Given the description of an element on the screen output the (x, y) to click on. 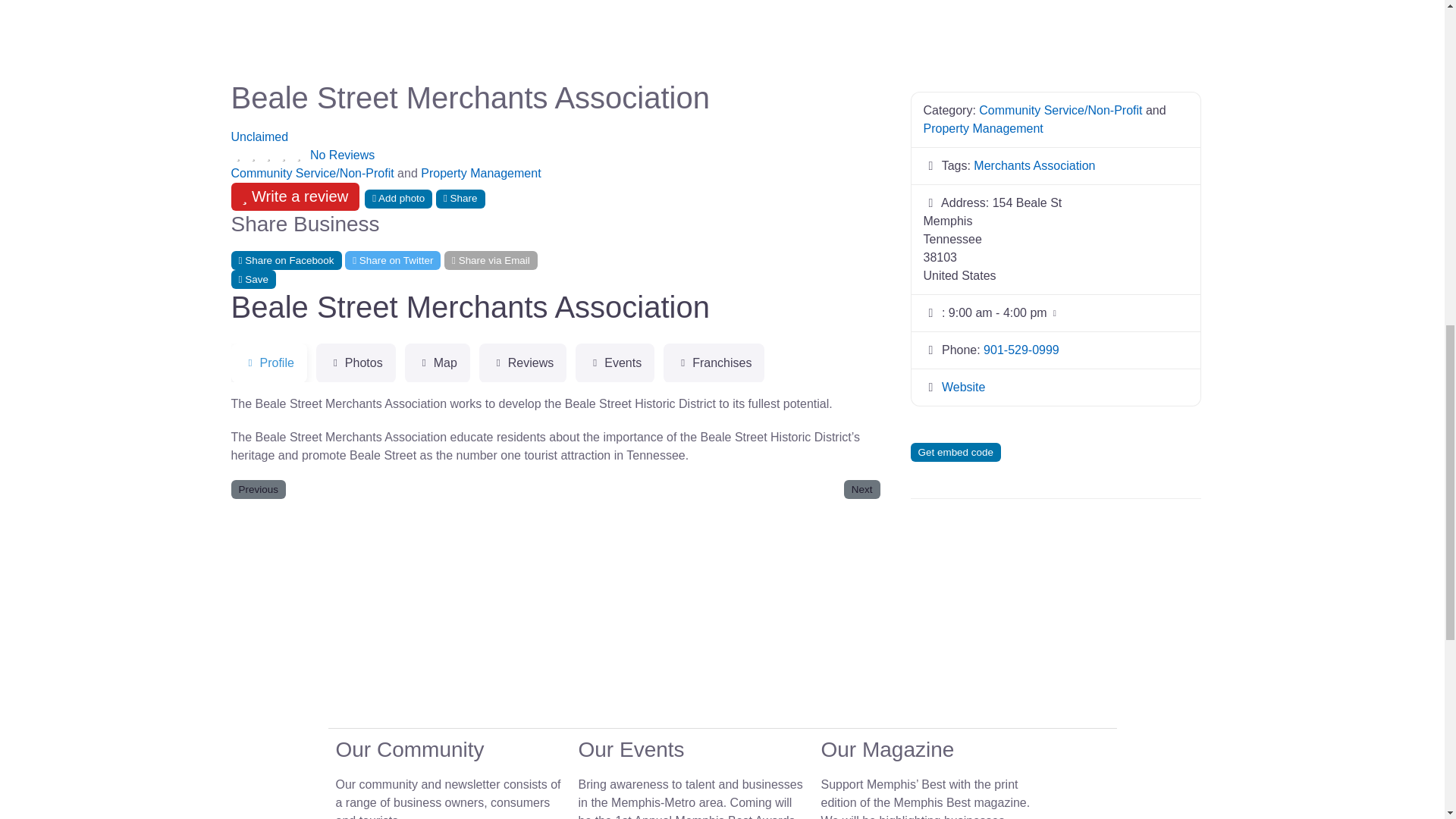
Expand opening hours (997, 312)
No rating yet! (267, 155)
Franchises (713, 363)
Events (614, 363)
Reviews (522, 363)
Map (437, 363)
Profile (267, 363)
Photos (355, 363)
